Given the description of an element on the screen output the (x, y) to click on. 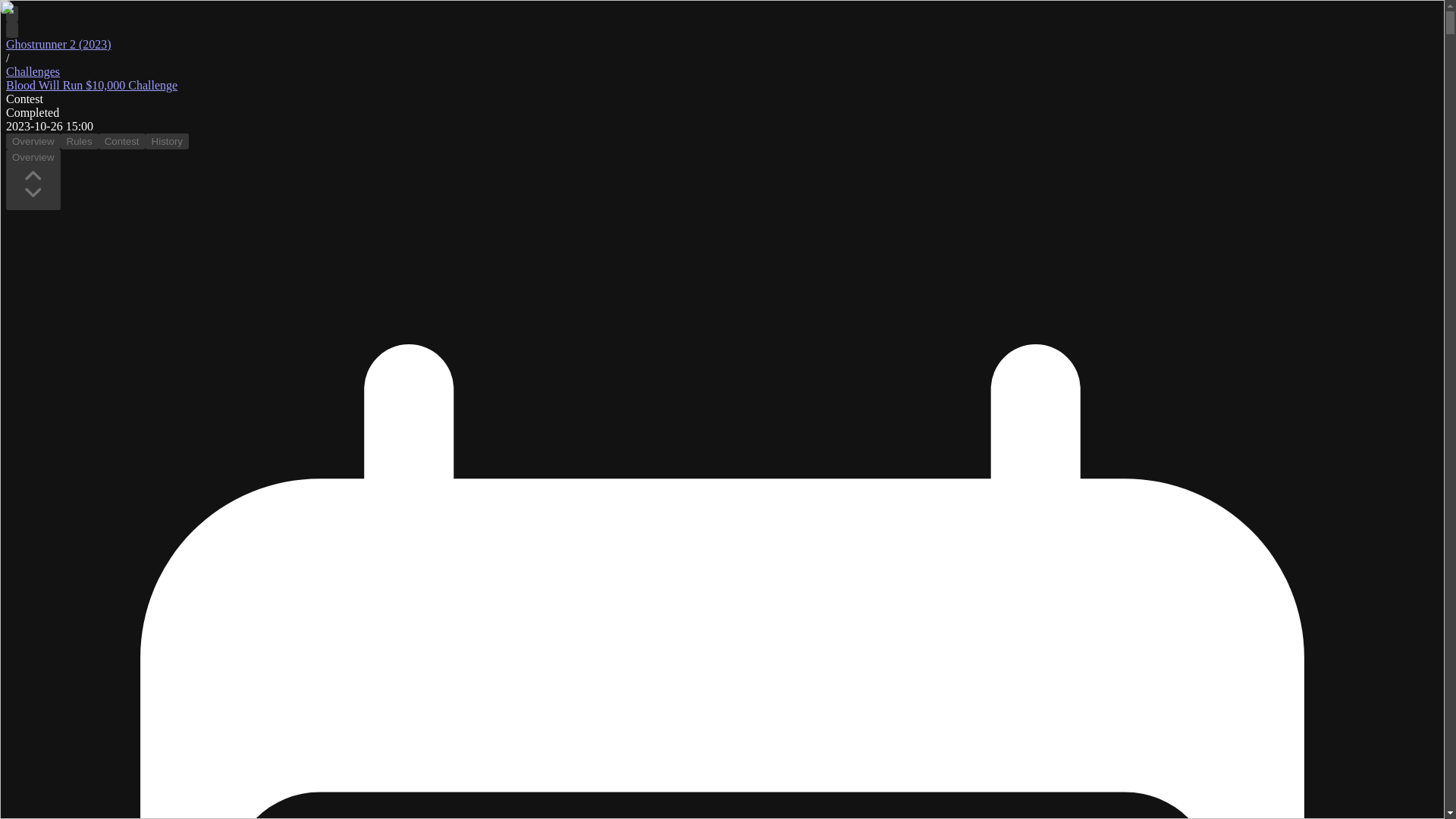
Overview (33, 140)
History (167, 141)
Rules (80, 140)
Challenges (32, 71)
Rules (80, 141)
Overview (33, 179)
History (167, 140)
Overview (33, 141)
Contest (122, 141)
Contest (122, 140)
